Given the description of an element on the screen output the (x, y) to click on. 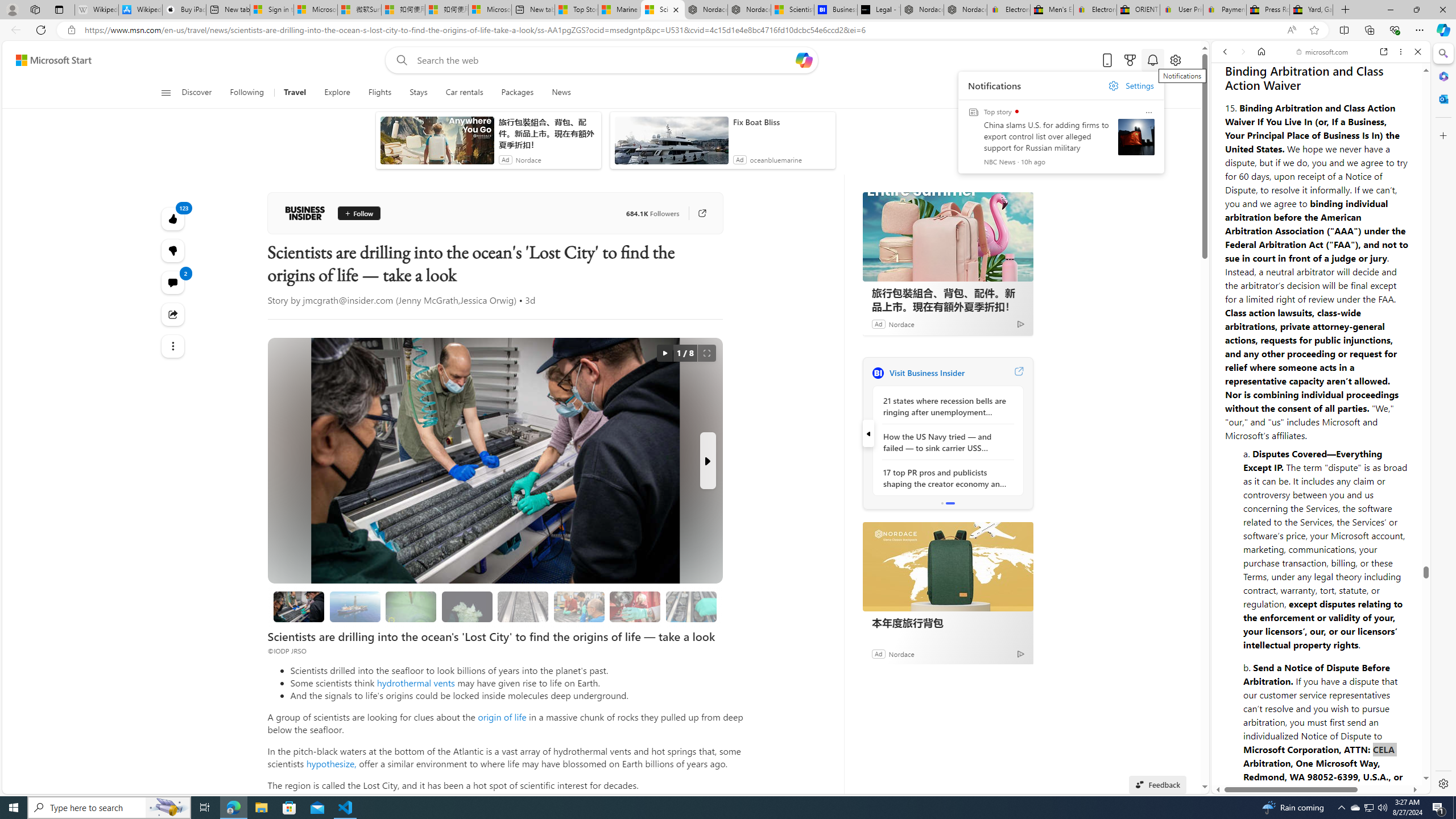
Feedback (1384, 757)
Class: progress (691, 604)
Following (248, 92)
Explore (337, 92)
Enter your search term (603, 59)
Back (1225, 51)
Yard, Garden & Outdoor Living (1311, 9)
To get missing image descriptions, open the context menu. (983, 92)
Side bar (1443, 418)
Minimize Search pane (1442, 53)
Browser essentials (1394, 29)
Open Copilot (803, 59)
